Given the description of an element on the screen output the (x, y) to click on. 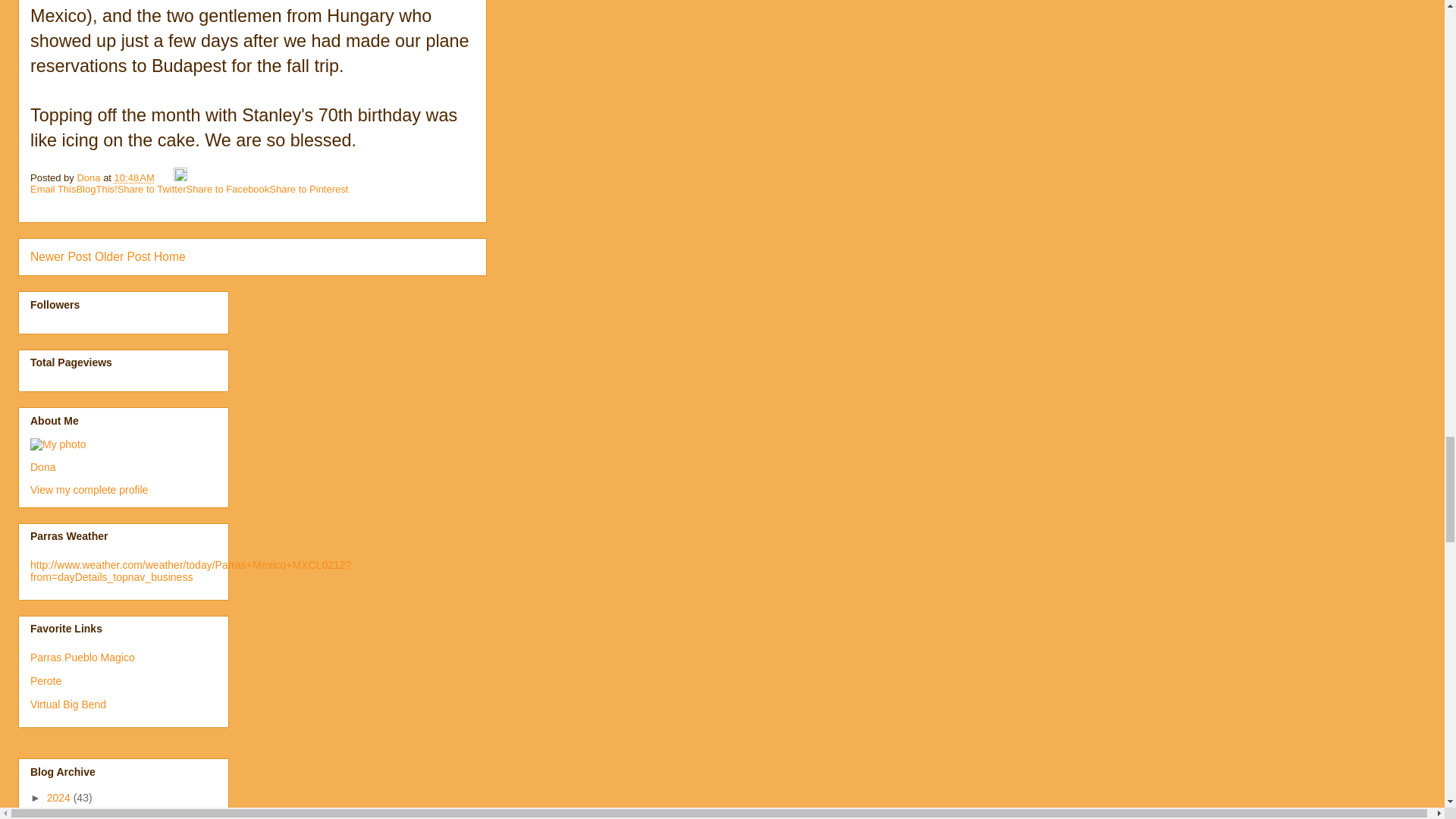
Email This (52, 188)
July (57, 812)
Home (170, 256)
View my complete profile (89, 490)
permanent link (134, 177)
Older Post (122, 256)
Dona (42, 467)
author profile (90, 177)
BlogThis! (95, 188)
Share to Facebook (227, 188)
Parras Pueblo Magico (82, 657)
Share to Facebook (227, 188)
Email Post (165, 177)
2024 (60, 797)
Newer Post (60, 256)
